Given the description of an element on the screen output the (x, y) to click on. 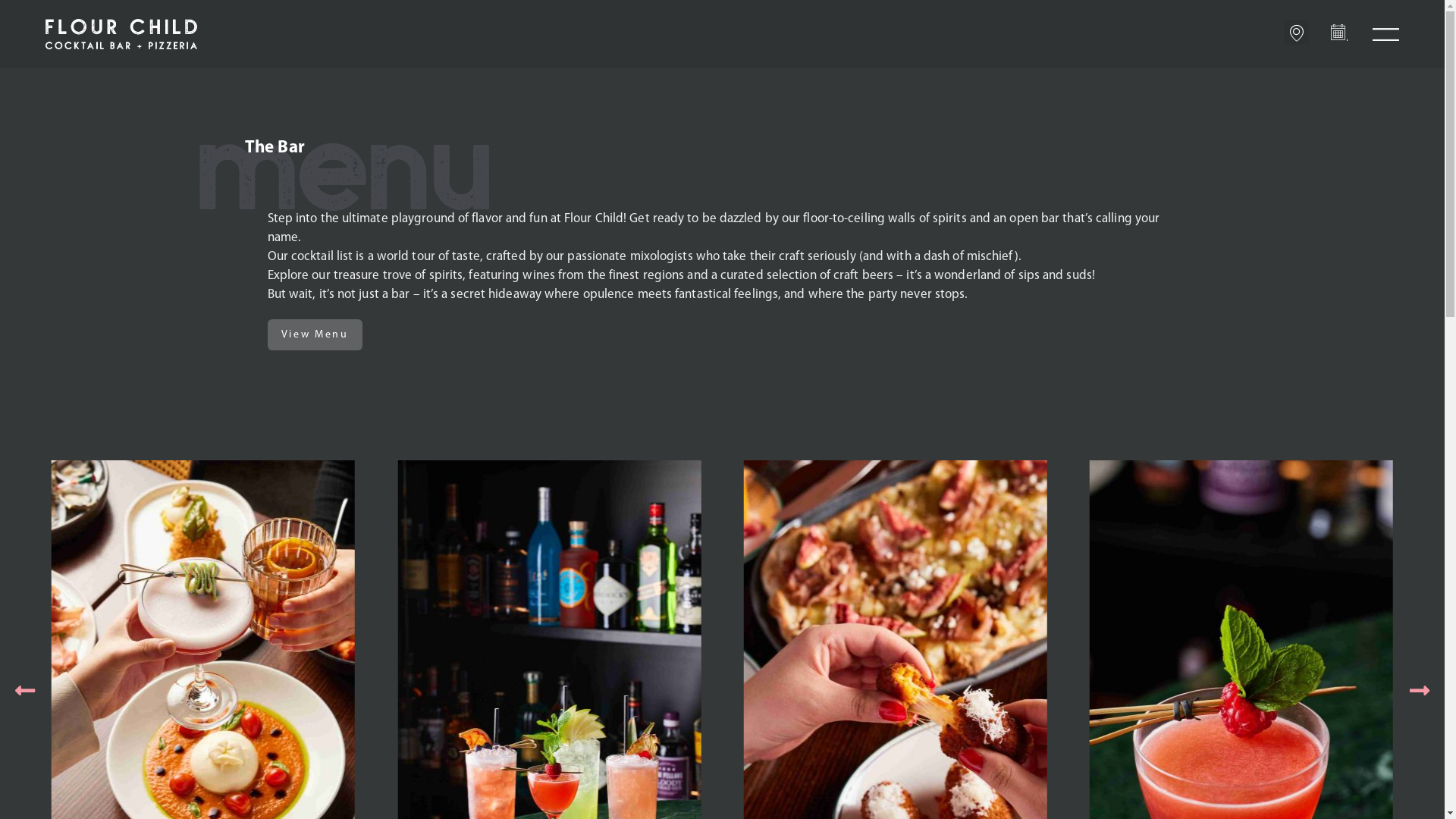
View Menu Element type: text (313, 334)
